Given the description of an element on the screen output the (x, y) to click on. 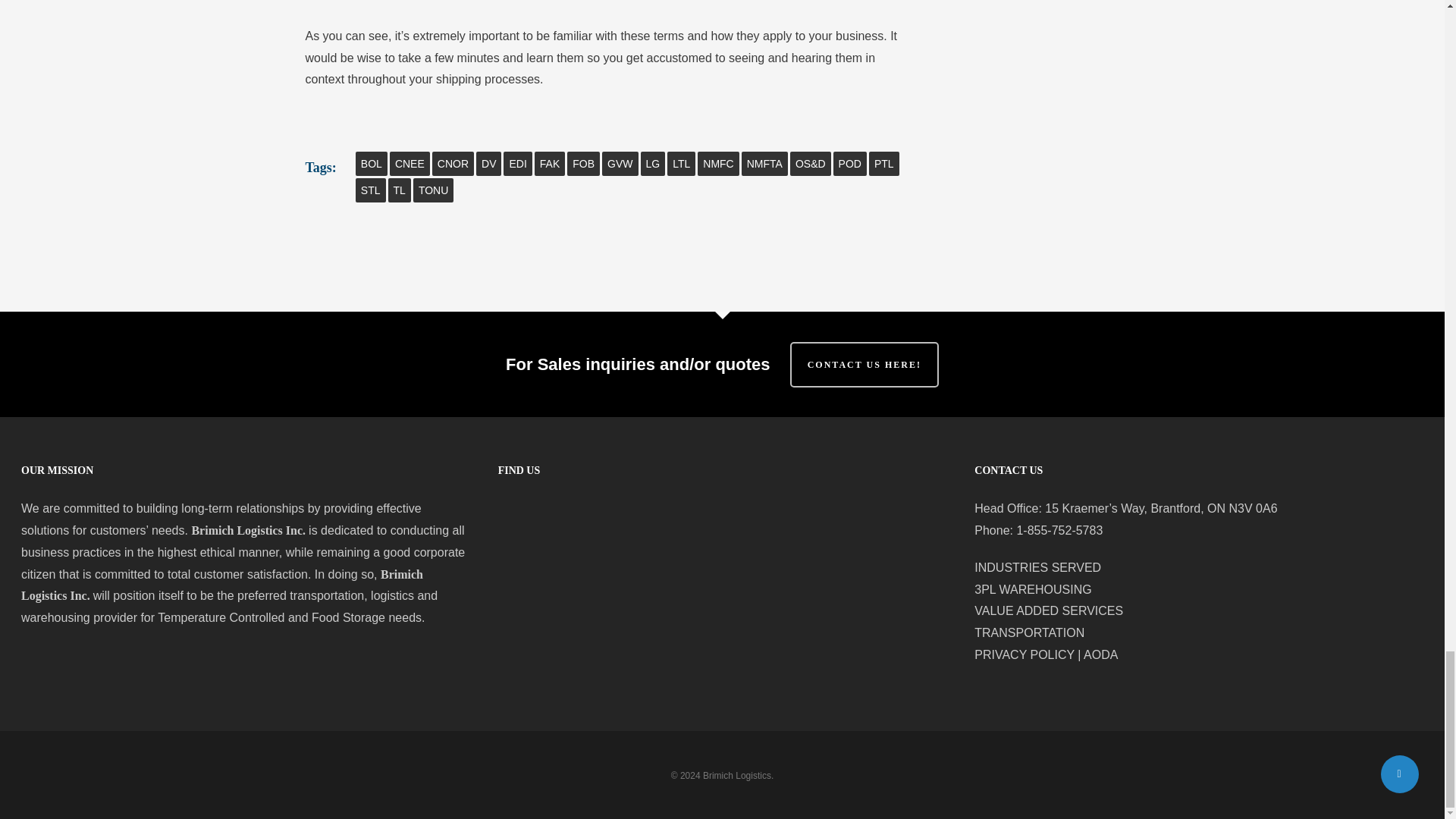
BOL (371, 163)
CNEE (409, 163)
CNOR (453, 163)
DV (488, 163)
